Given the description of an element on the screen output the (x, y) to click on. 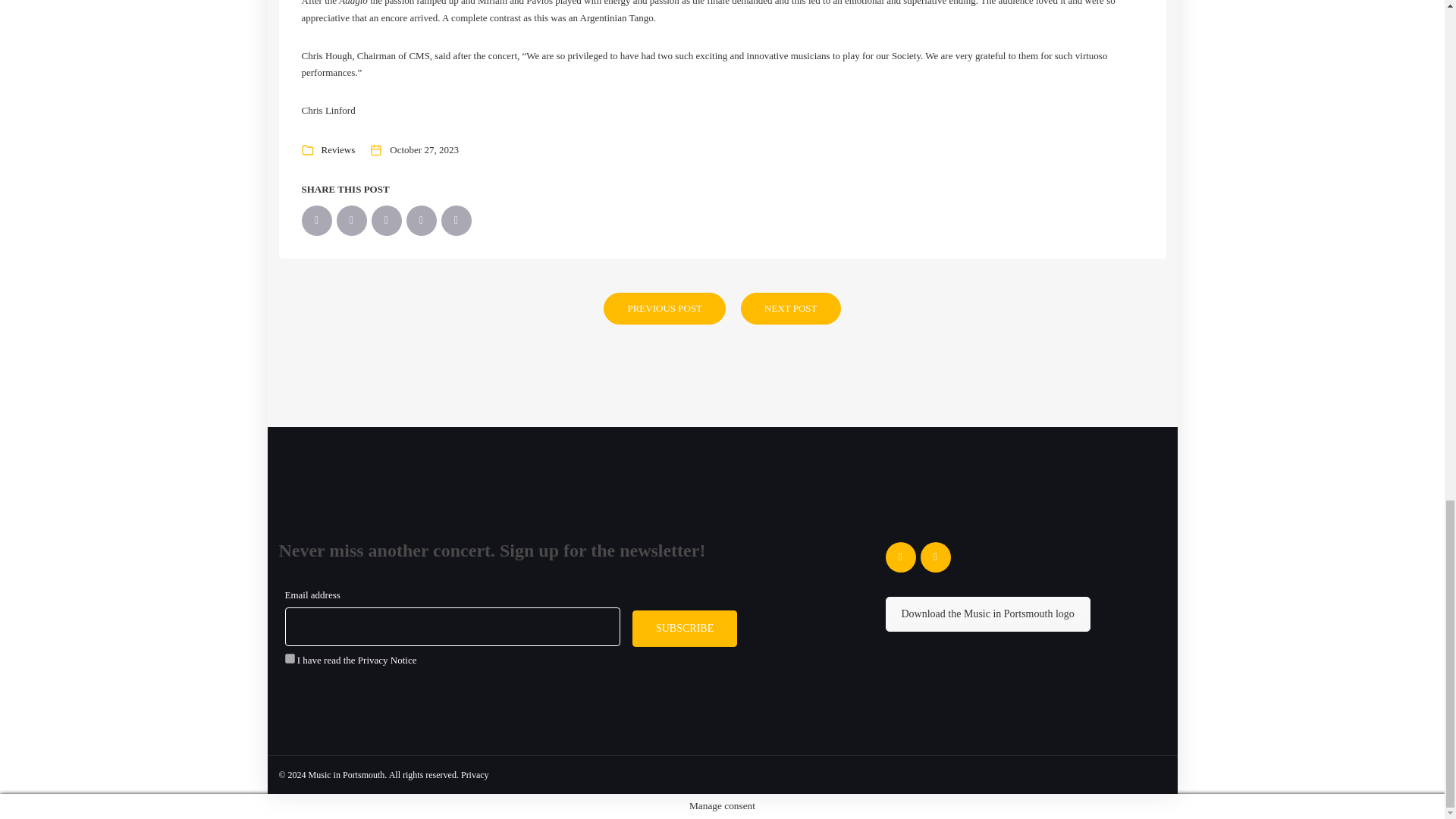
Reviews (338, 149)
1 (290, 658)
PREVIOUS POST (664, 308)
Subscribe (683, 628)
